Given the description of an element on the screen output the (x, y) to click on. 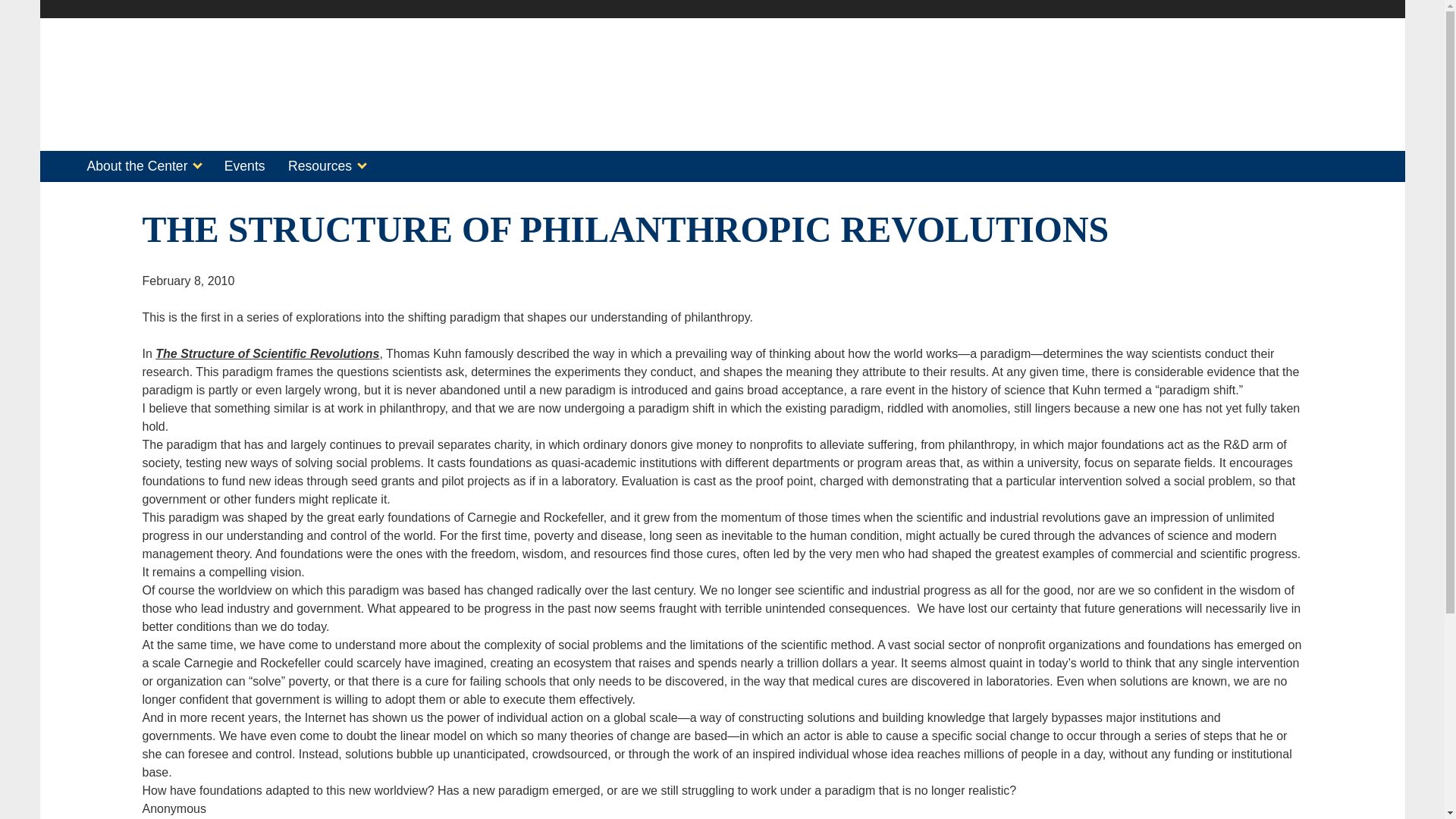
Center for Strategic Philanthropy and Civil Society (289, 126)
Events (244, 166)
Resources (326, 166)
About the Center (143, 166)
The Structure of Scientific Revolutions (266, 353)
